Given the description of an element on the screen output the (x, y) to click on. 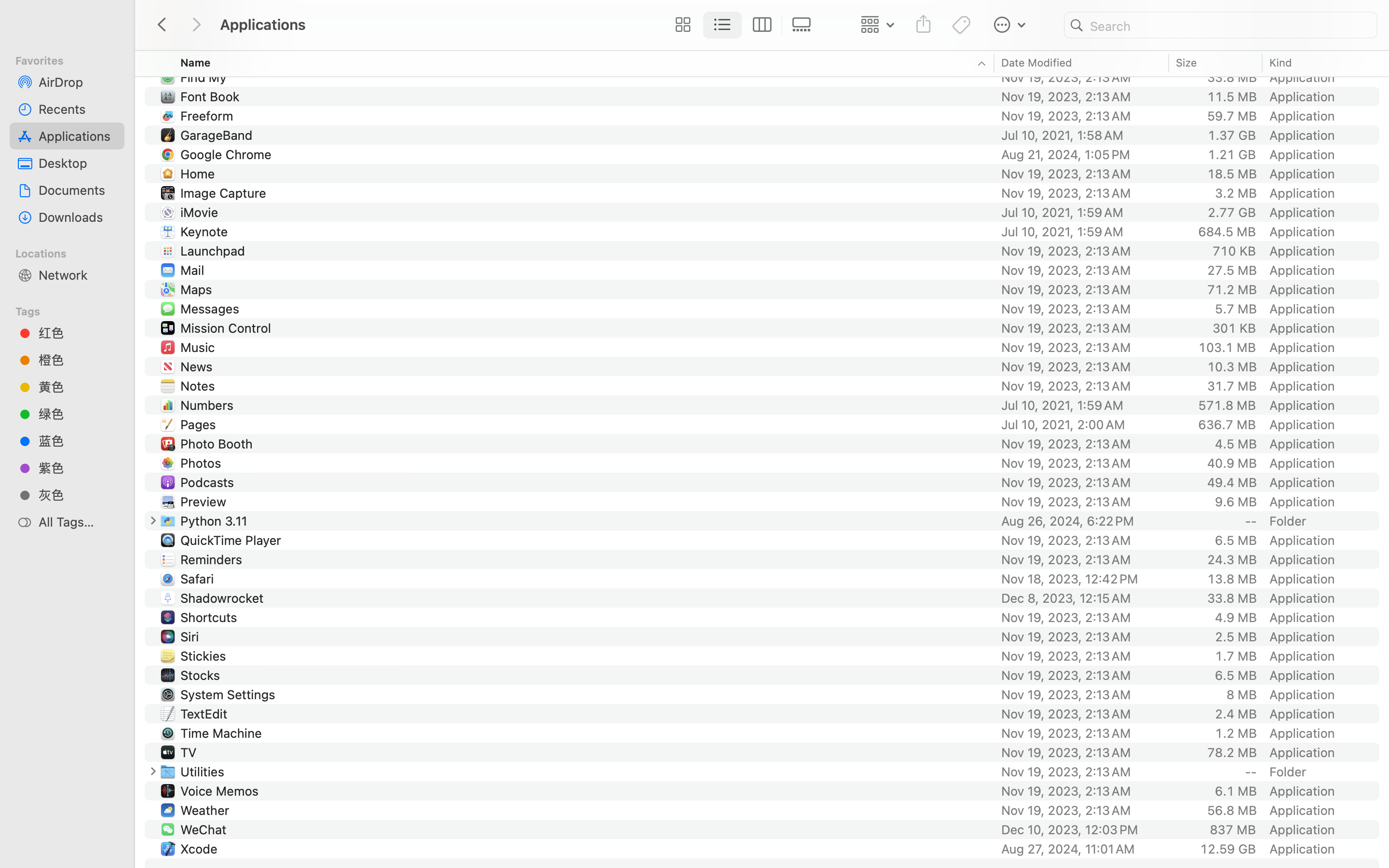
Tags… Element type: AXStaticText (20, 860)
Shortcuts Element type: AXTextField (210, 616)
GarageBand Element type: AXTextField (218, 134)
636.7 MB Element type: AXStaticText (1226, 424)
Font Book Element type: AXTextField (211, 96)
